Given the description of an element on the screen output the (x, y) to click on. 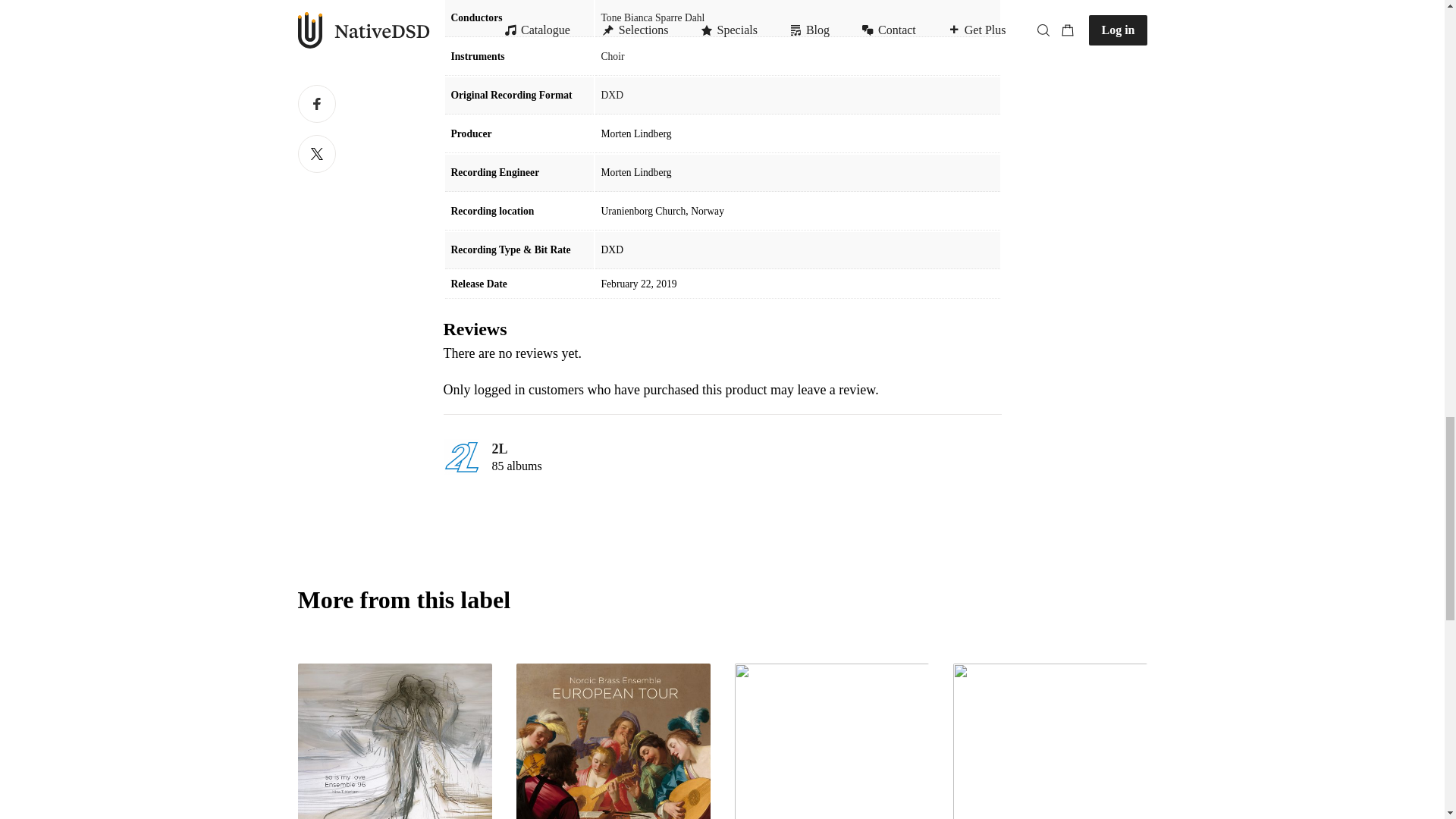
Appassionata (1049, 741)
European Tour (612, 741)
So Is My Love (394, 741)
